Given the description of an element on the screen output the (x, y) to click on. 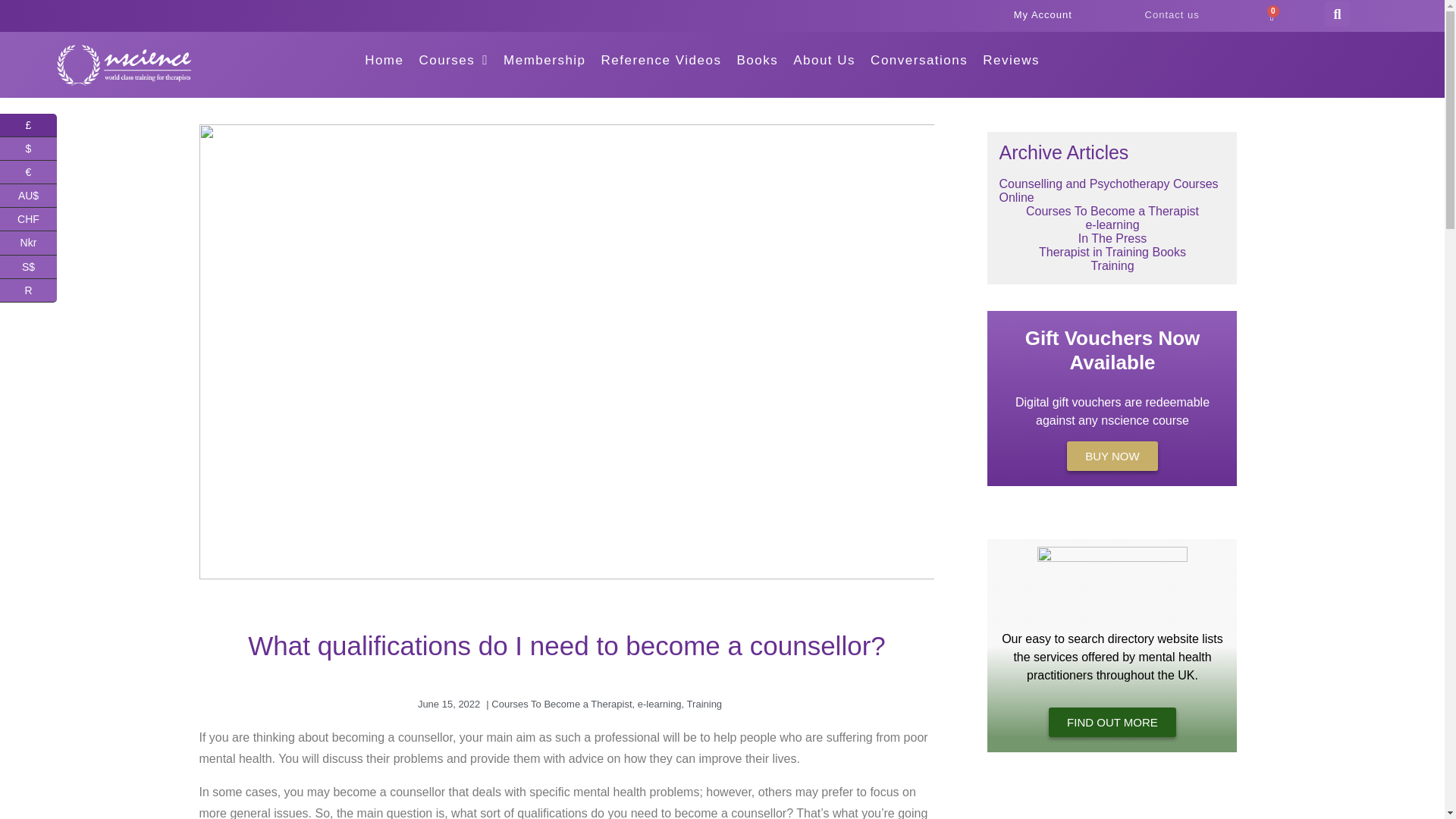
My Account (1042, 15)
About Us (824, 60)
Reference Videos (661, 60)
Books (757, 60)
Membership (545, 60)
0 (1270, 16)
Contact us (1171, 14)
Reviews (1010, 60)
Home (383, 60)
Conversations (919, 60)
